Given the description of an element on the screen output the (x, y) to click on. 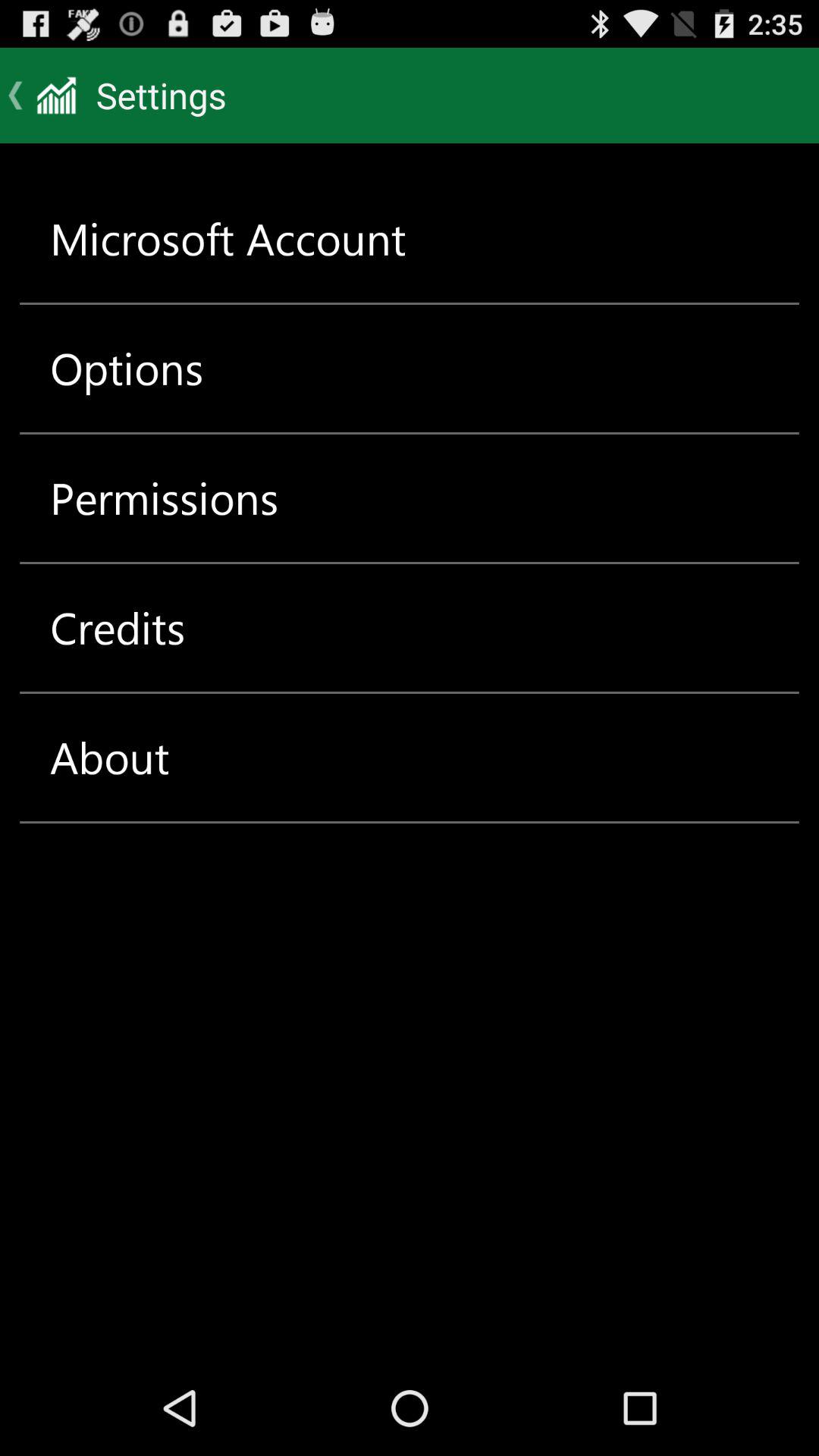
open item below the credits (109, 757)
